Given the description of an element on the screen output the (x, y) to click on. 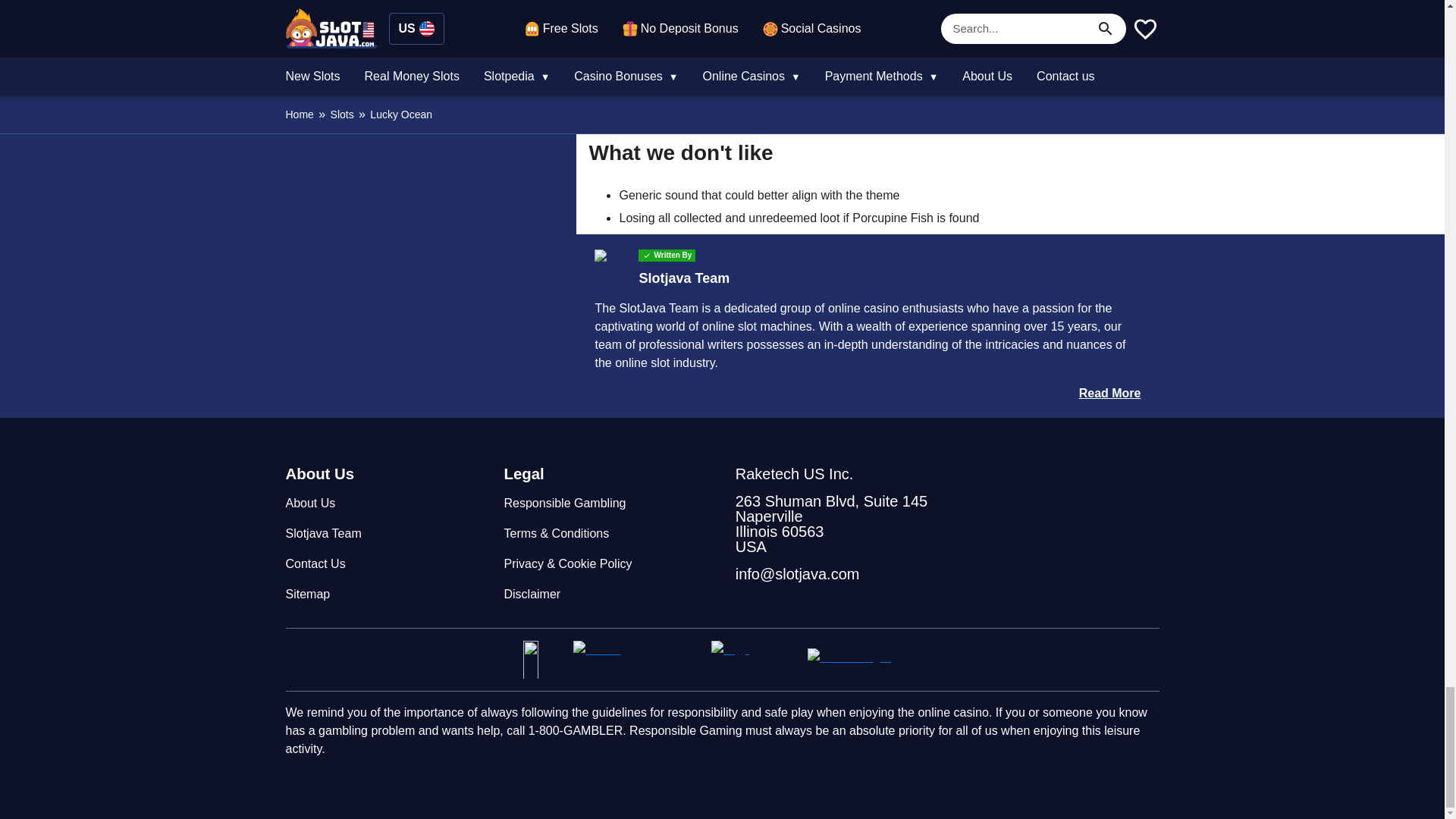
Slotjava partner (635, 659)
Slotjava partner (752, 659)
Slotjava partner (864, 659)
Slotjava partner (541, 659)
